Given the description of an element on the screen output the (x, y) to click on. 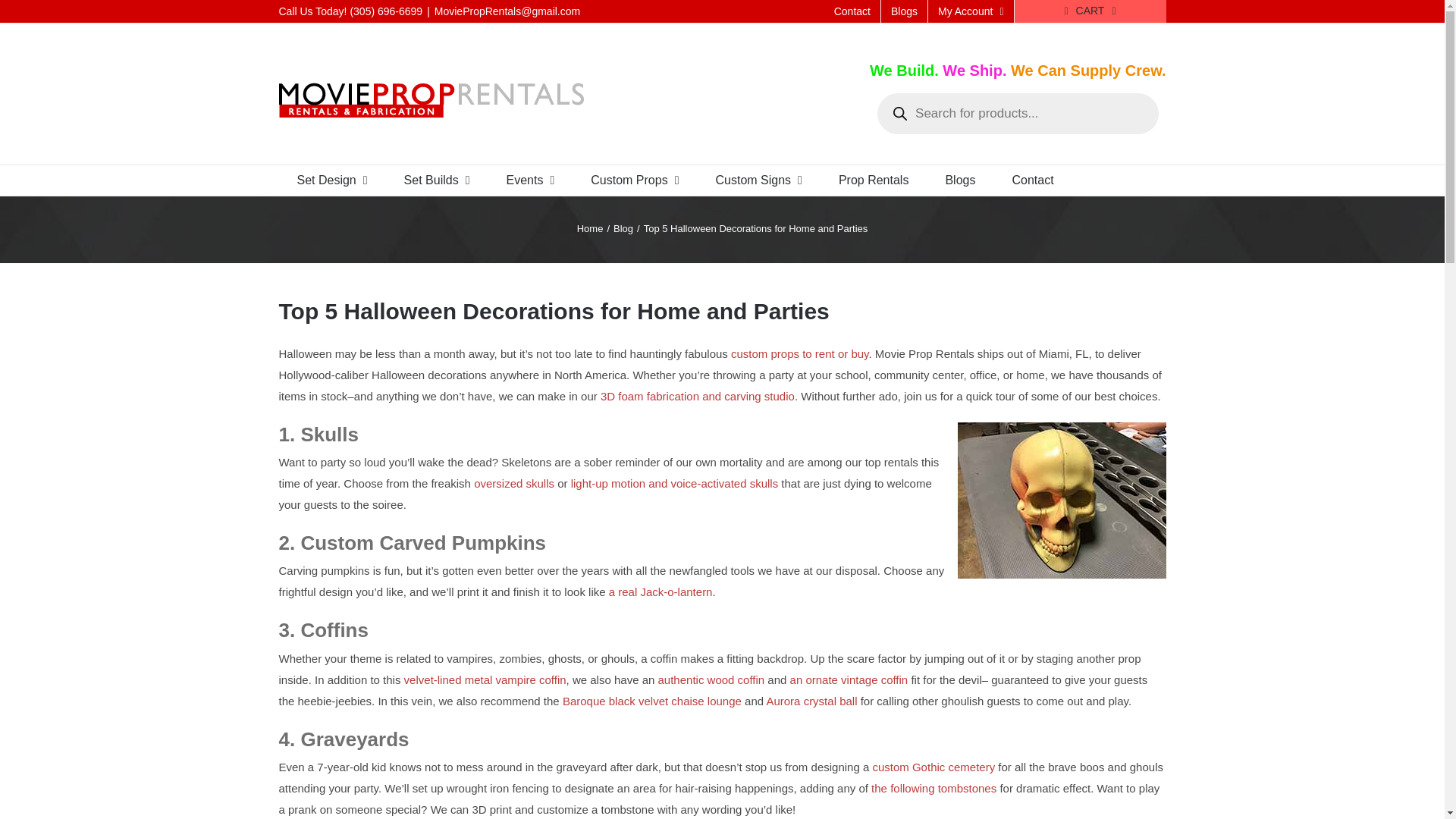
My Account (970, 11)
CART (1090, 11)
Contact (852, 11)
Set Builds (436, 180)
Events (530, 180)
Log In (1029, 147)
Set Design (332, 180)
Custom Props (634, 180)
Blogs (903, 11)
